Given the description of an element on the screen output the (x, y) to click on. 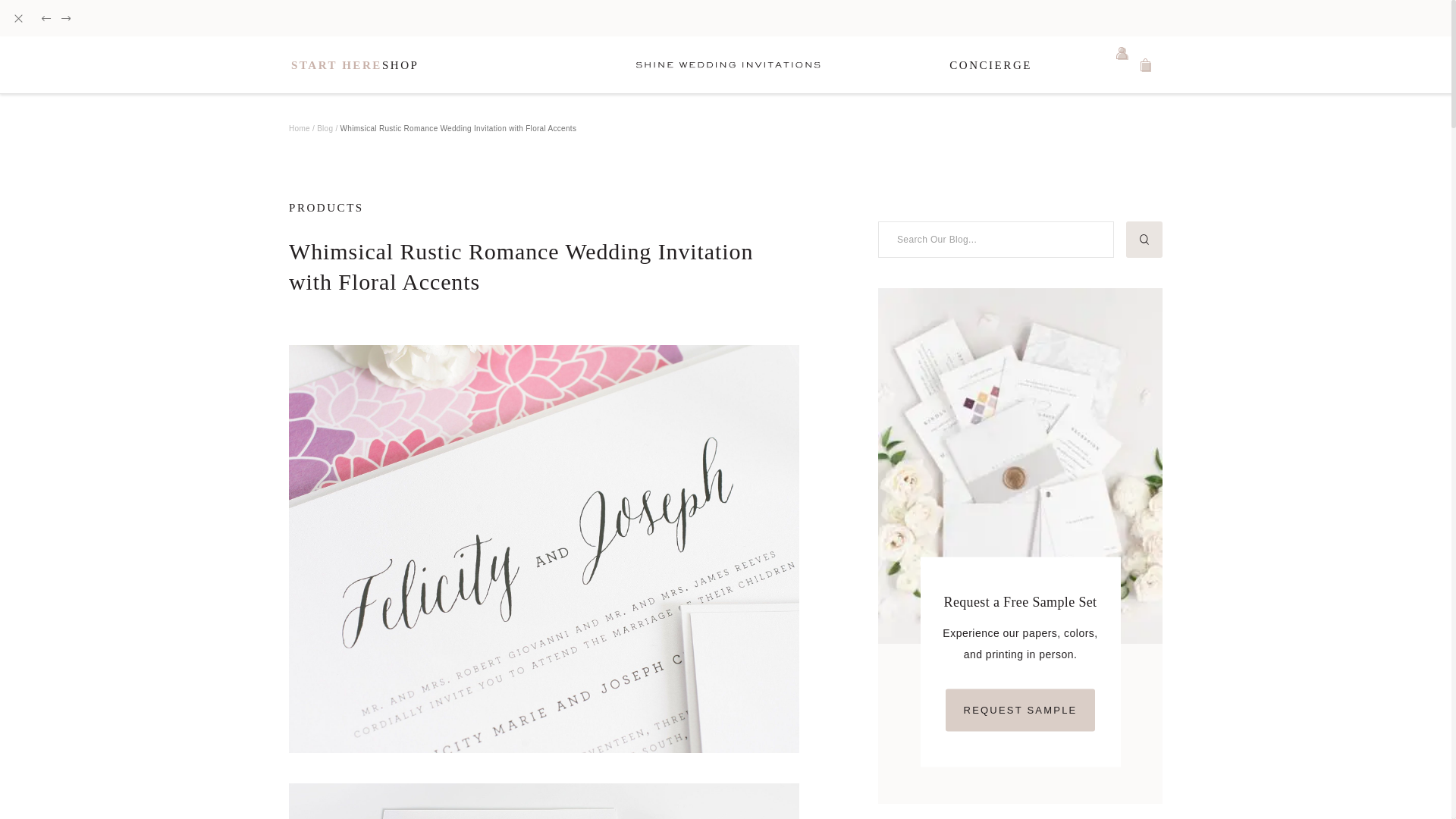
CONCIERGE (990, 65)
Home (299, 126)
Blog (325, 126)
START HERE (336, 65)
SHOP (400, 65)
